Given the description of an element on the screen output the (x, y) to click on. 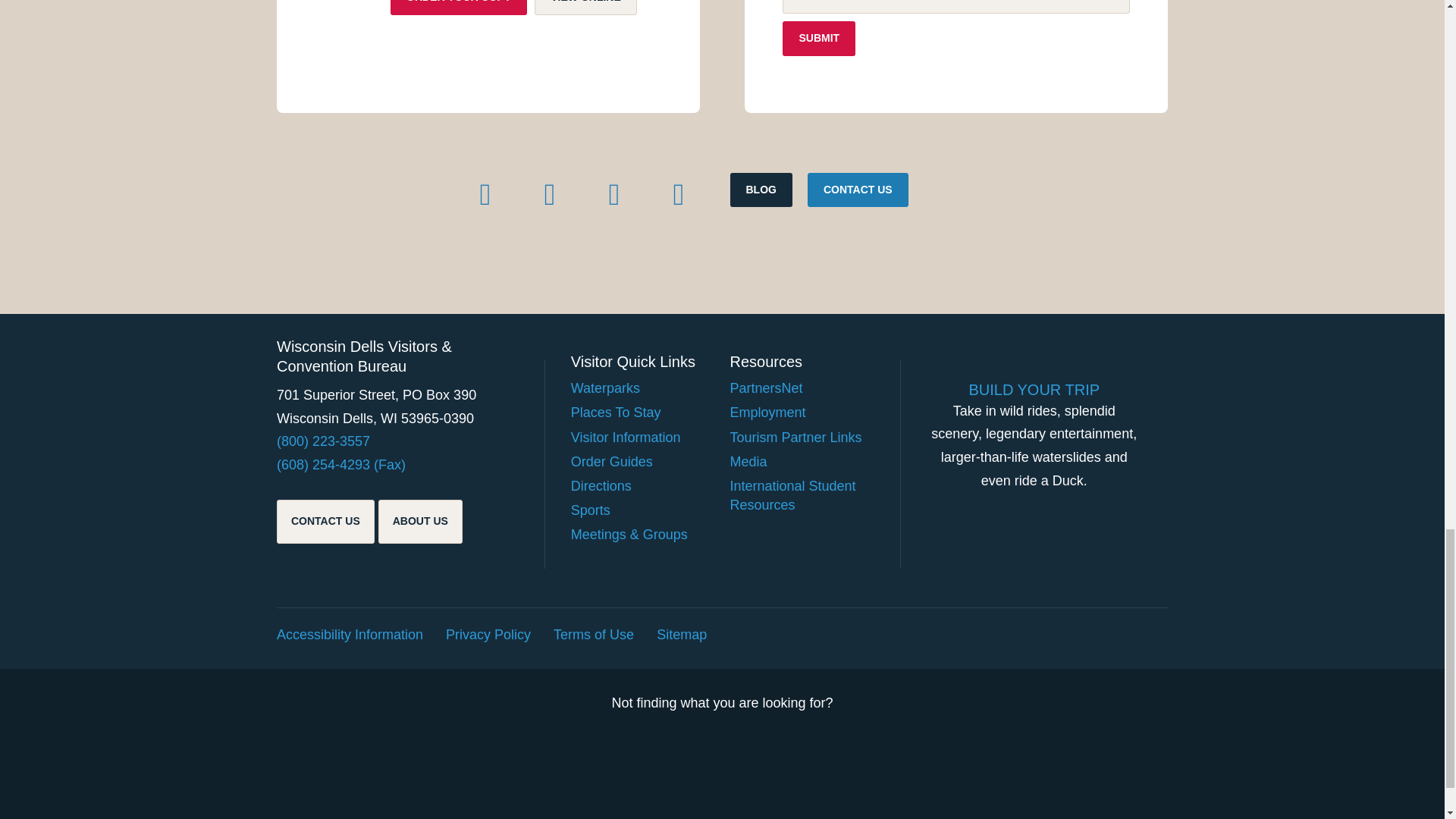
YouTube (678, 194)
VIEW ONLINE (585, 7)
Instagram (613, 194)
ORDER YOUR COPY (458, 7)
BLOG (760, 190)
CONTACT US (858, 190)
Submit (819, 38)
Facebook (485, 194)
Submit (819, 38)
Tiktok (549, 194)
